Given the description of an element on the screen output the (x, y) to click on. 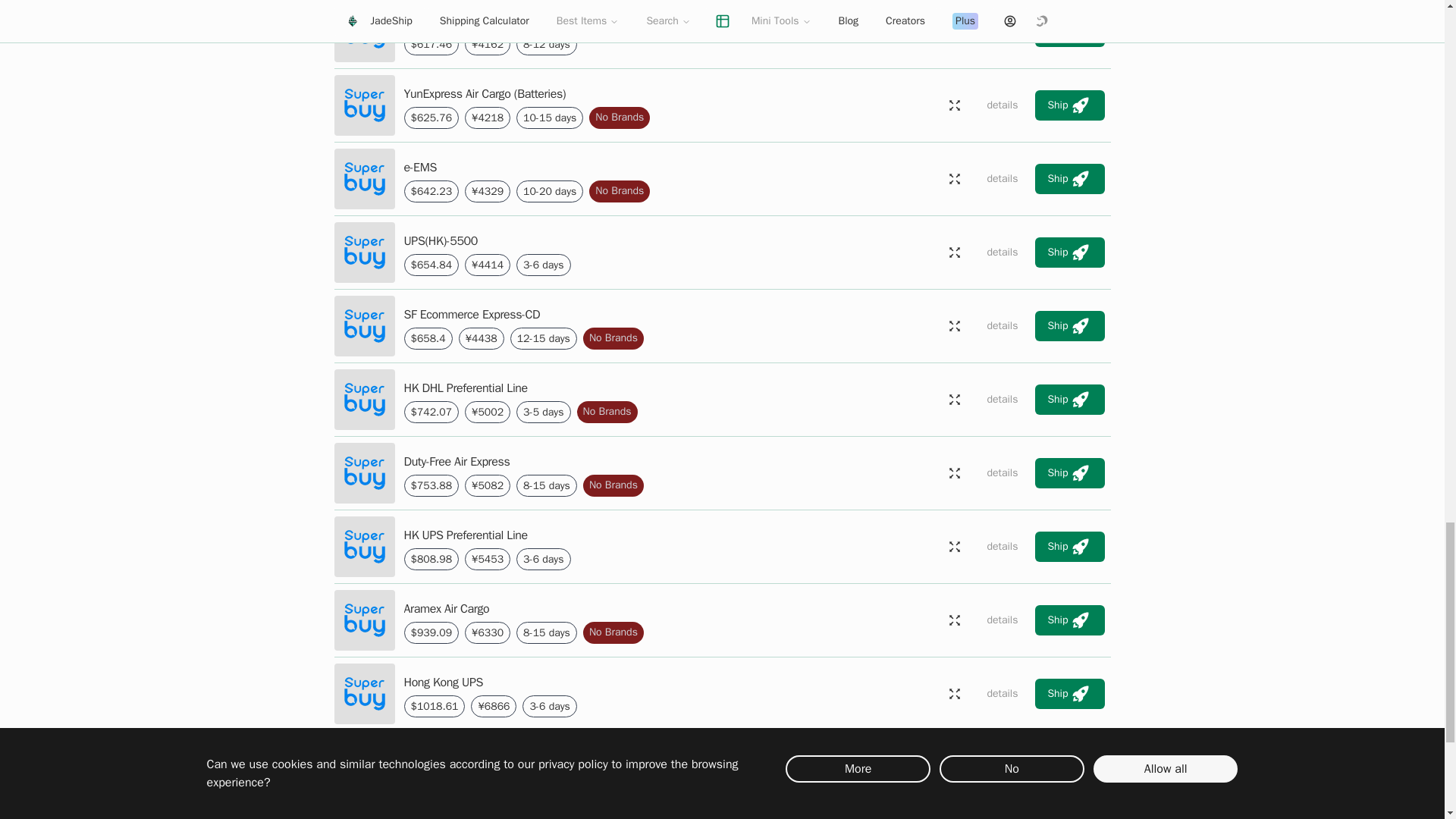
fullscreen details (954, 178)
fullscreen details (954, 105)
fullscreen details (954, 31)
fullscreen details (954, 252)
